Given the description of an element on the screen output the (x, y) to click on. 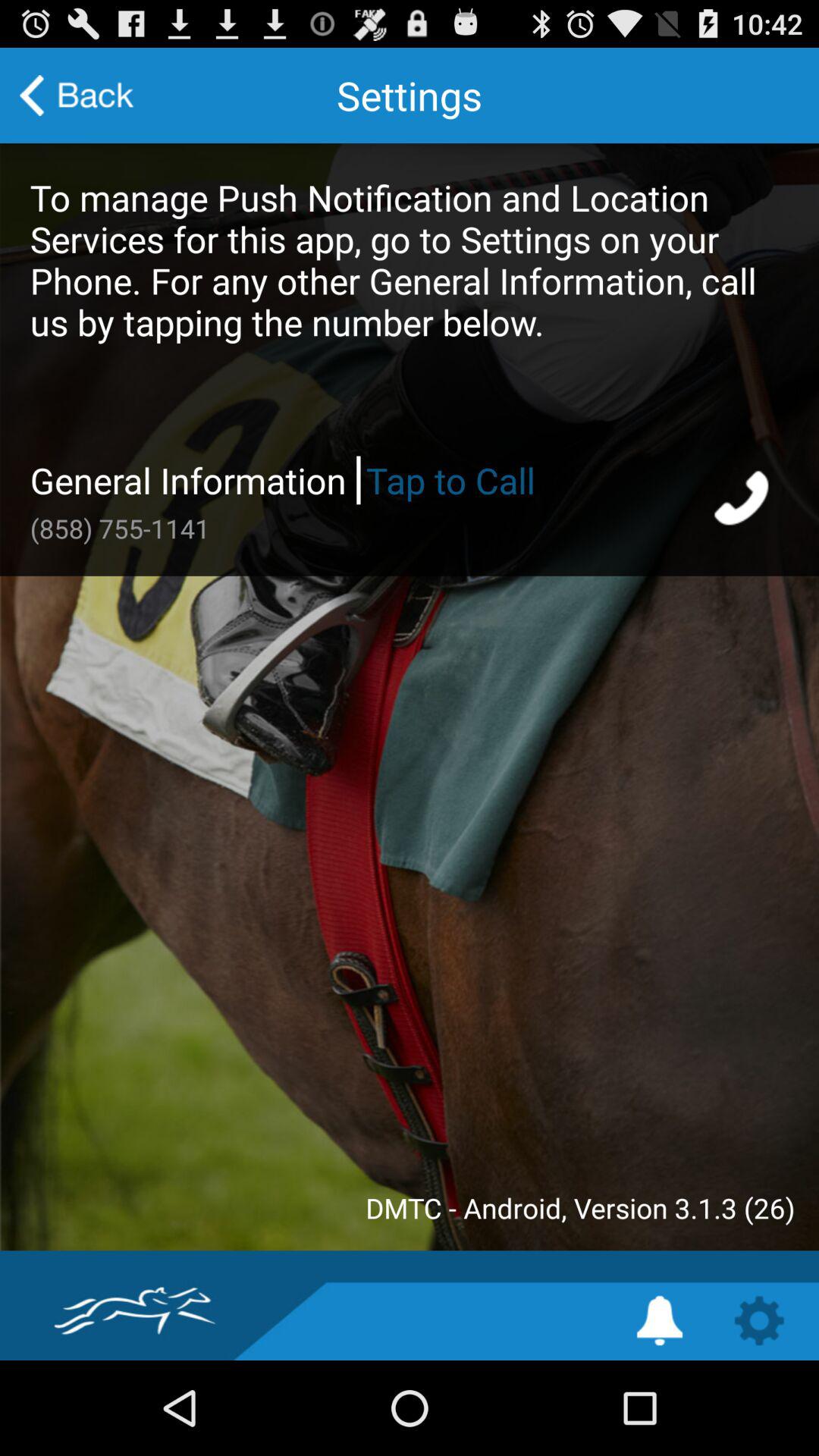
call for info (743, 501)
